Given the description of an element on the screen output the (x, y) to click on. 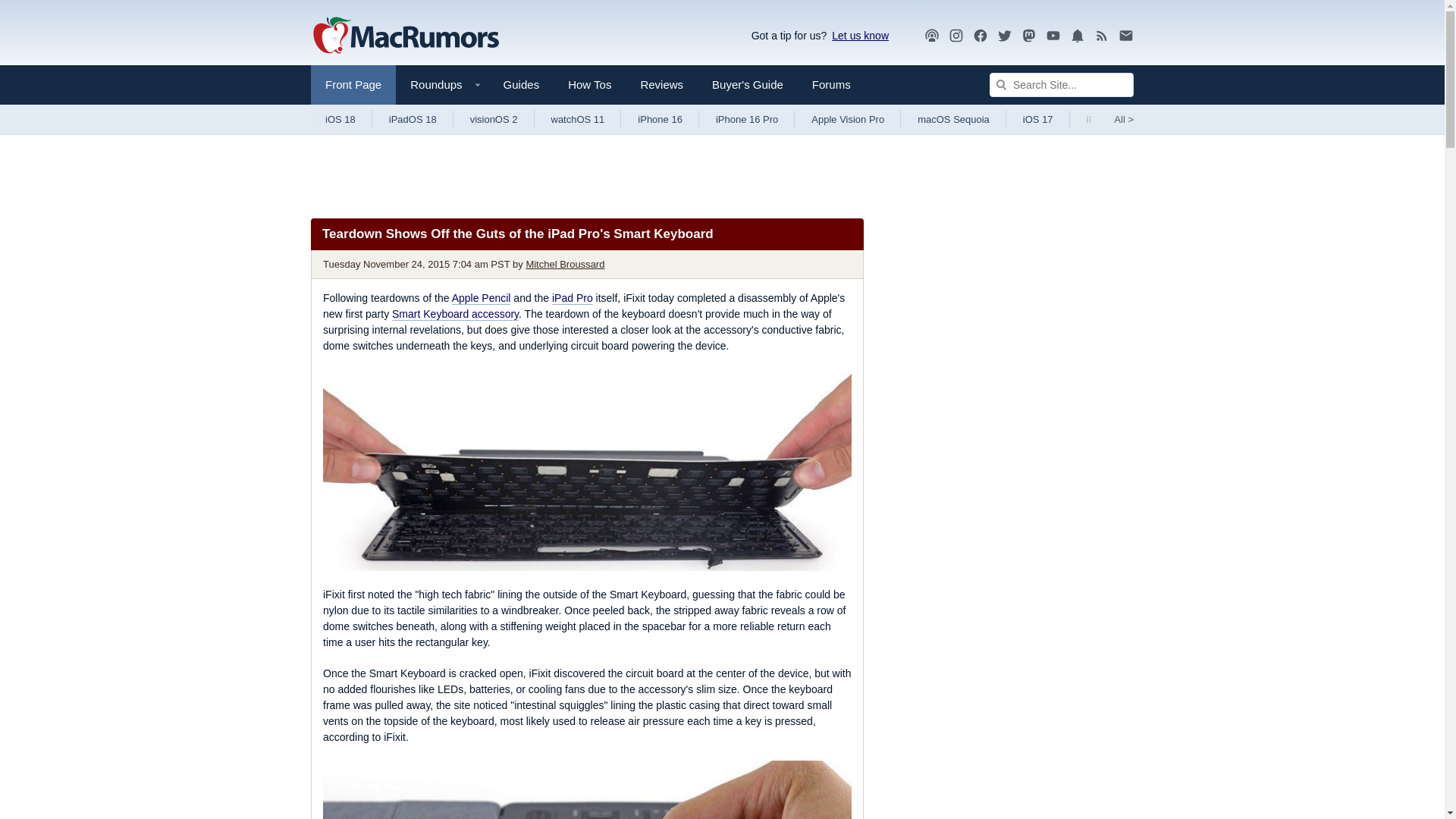
Instagram (956, 35)
Buyer's Guide (747, 84)
Instagram (956, 35)
Podcast (931, 35)
Twitter (1004, 35)
Guides (521, 84)
MacRumors YouTube Channel (1053, 35)
Podcast (931, 35)
MacRumors on Mastodon (1029, 35)
RSS (1101, 35)
Apple, Mac, iPhone, iPad News and Rumors (405, 36)
MacRumors Push Notifications (1077, 35)
Mastodon (1029, 35)
Let us know (857, 35)
Roundups (441, 84)
